Given the description of an element on the screen output the (x, y) to click on. 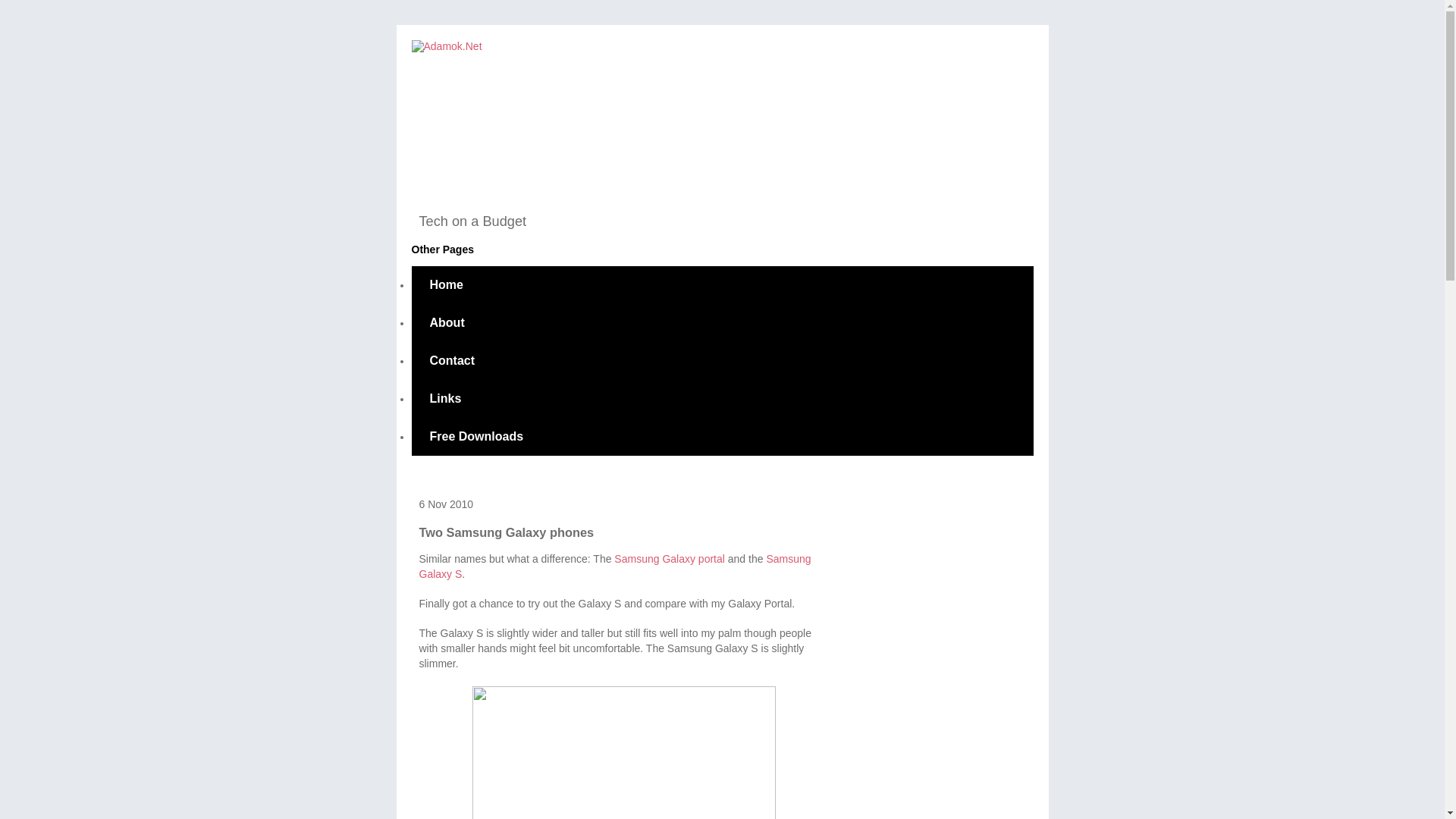
Free Downloads (475, 436)
Home (445, 284)
Samsung Galaxy S (614, 565)
About (445, 322)
Contact (451, 361)
Samsung Galaxy portal (669, 558)
Links (444, 398)
